Given the description of an element on the screen output the (x, y) to click on. 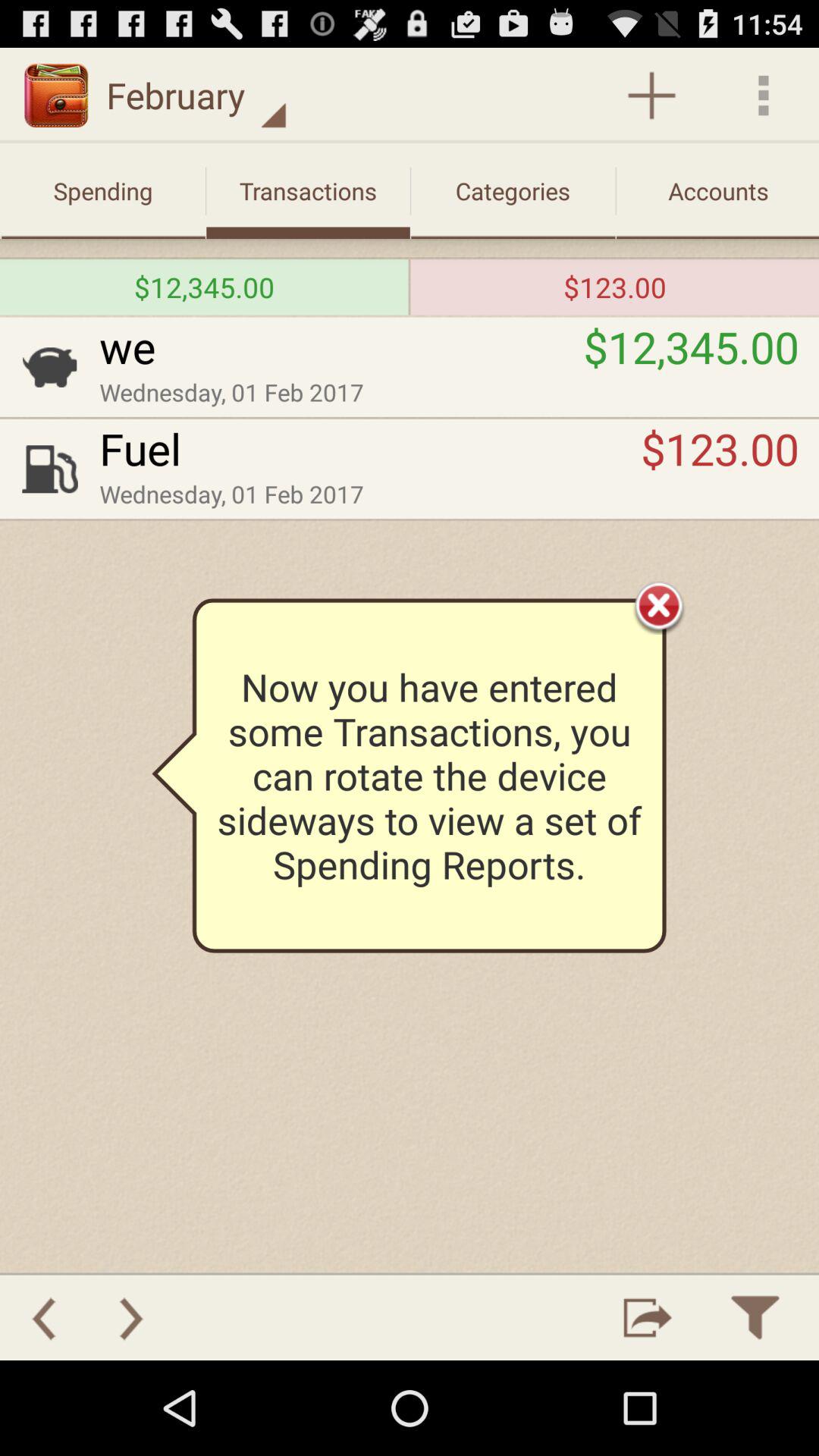
press the button next to february (651, 95)
